Given the description of an element on the screen output the (x, y) to click on. 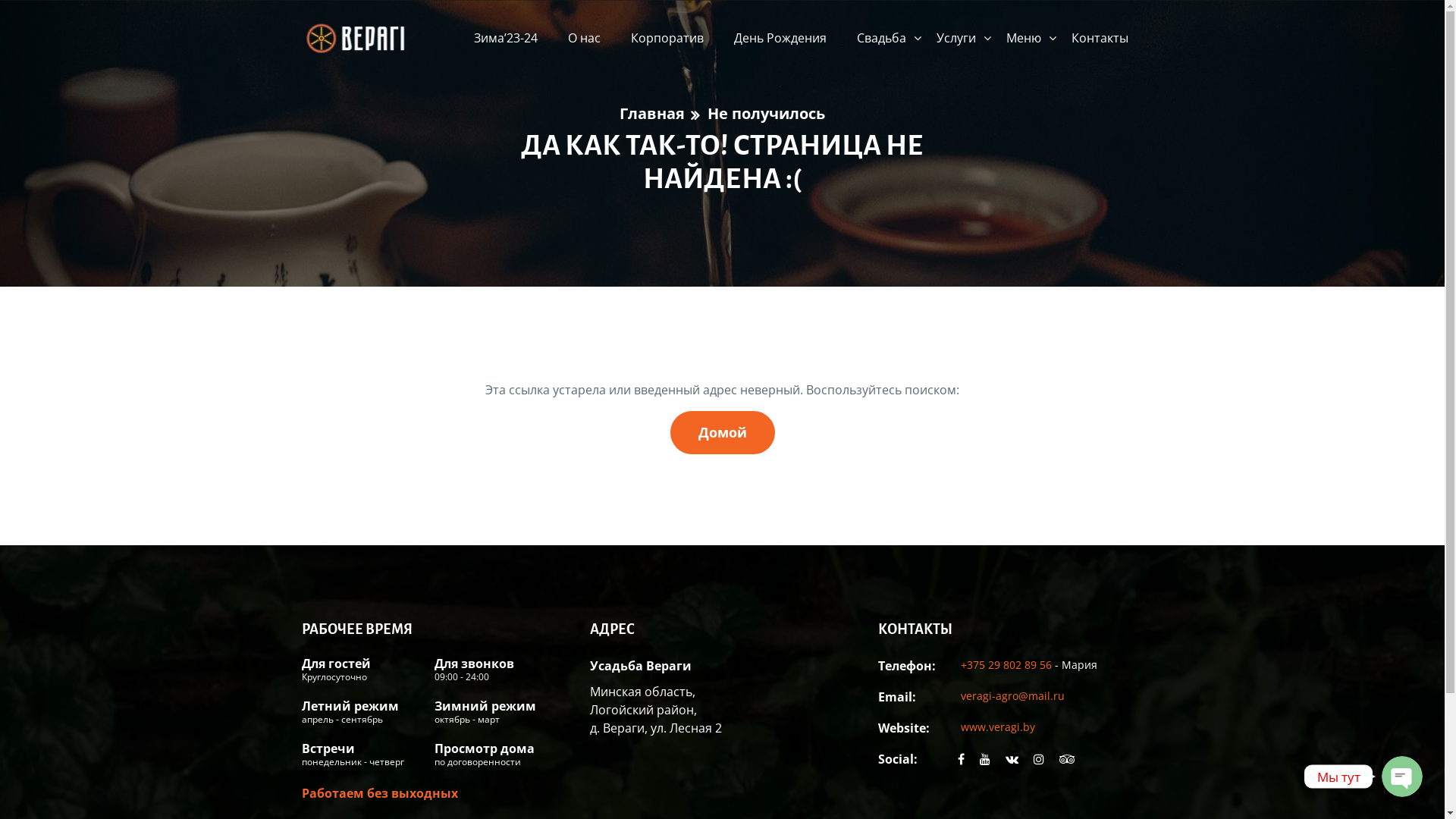
+375 29 802 89 56 Element type: text (1007, 663)
www.veragi.by Element type: text (997, 725)
veragi-agro@mail.ru Element type: text (1011, 695)
